Given the description of an element on the screen output the (x, y) to click on. 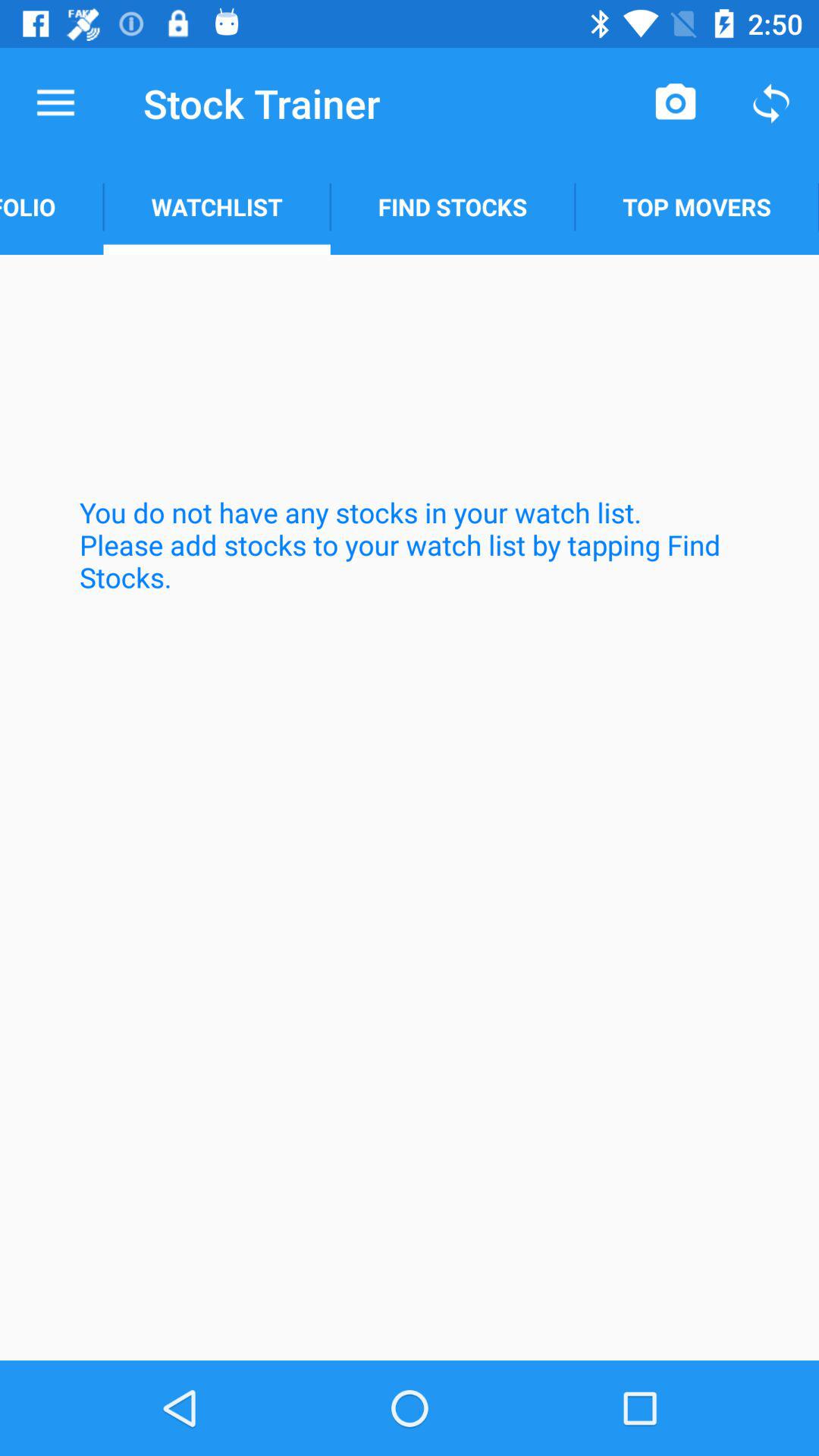
choose item next to find stocks (697, 206)
